Given the description of an element on the screen output the (x, y) to click on. 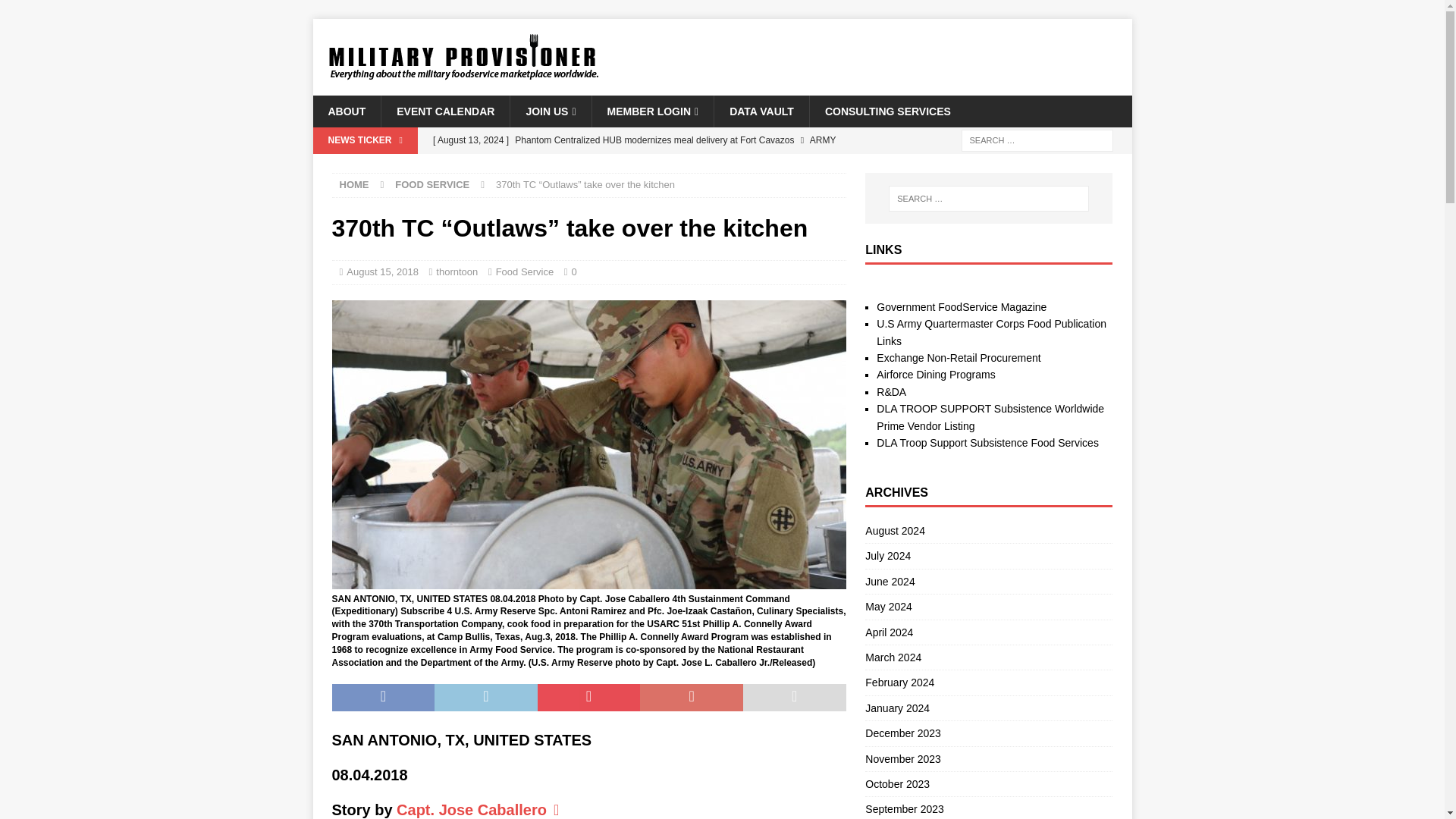
MEMBER LOGIN (652, 111)
JOIN US (550, 111)
CONSULTING SERVICES (887, 111)
Food Service (525, 271)
EVENT CALENDAR (444, 111)
thorntoon (456, 271)
ABOUT (346, 111)
Search (56, 11)
